Given the description of an element on the screen output the (x, y) to click on. 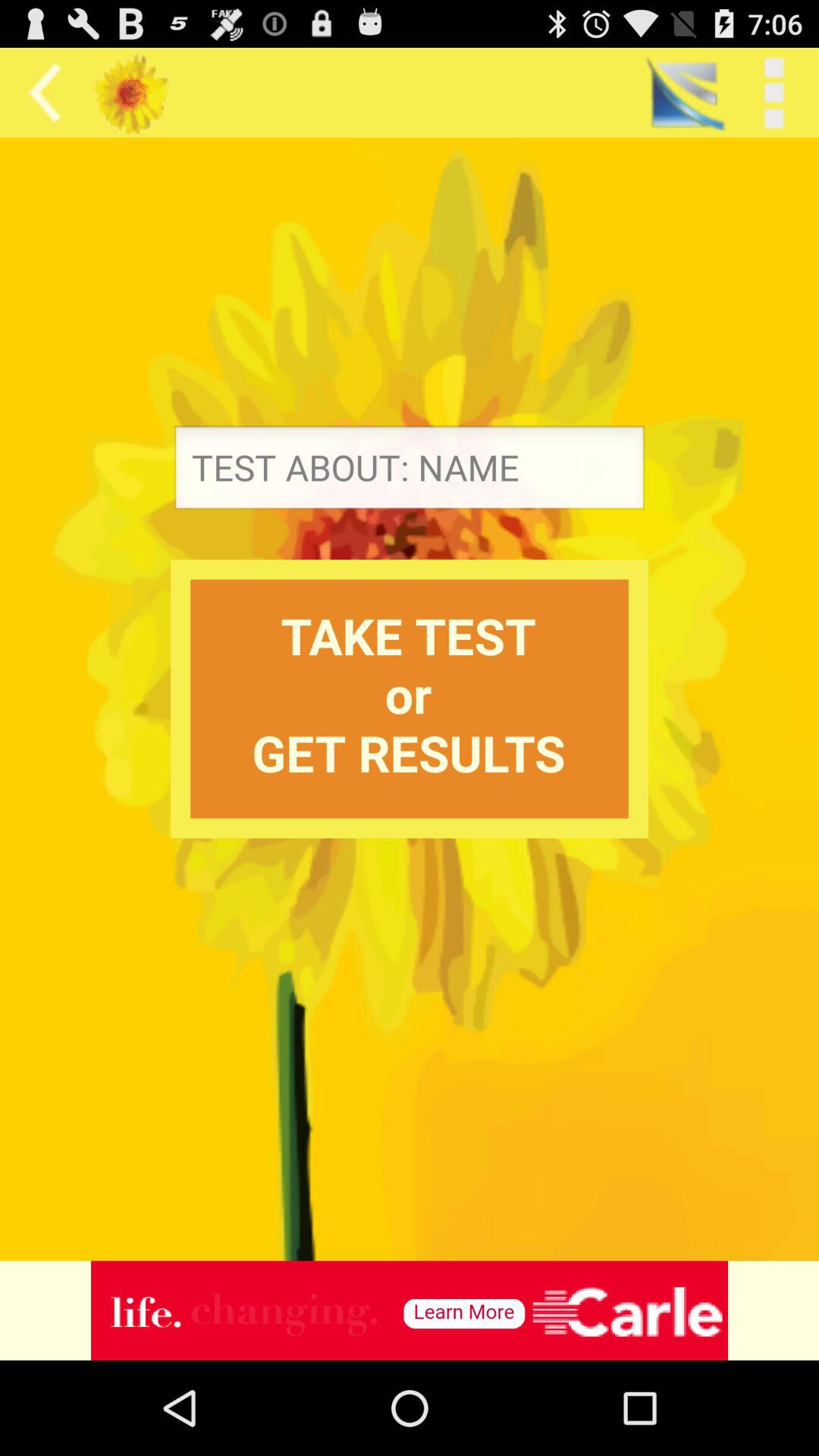
so the advertisement (409, 1310)
